Given the description of an element on the screen output the (x, y) to click on. 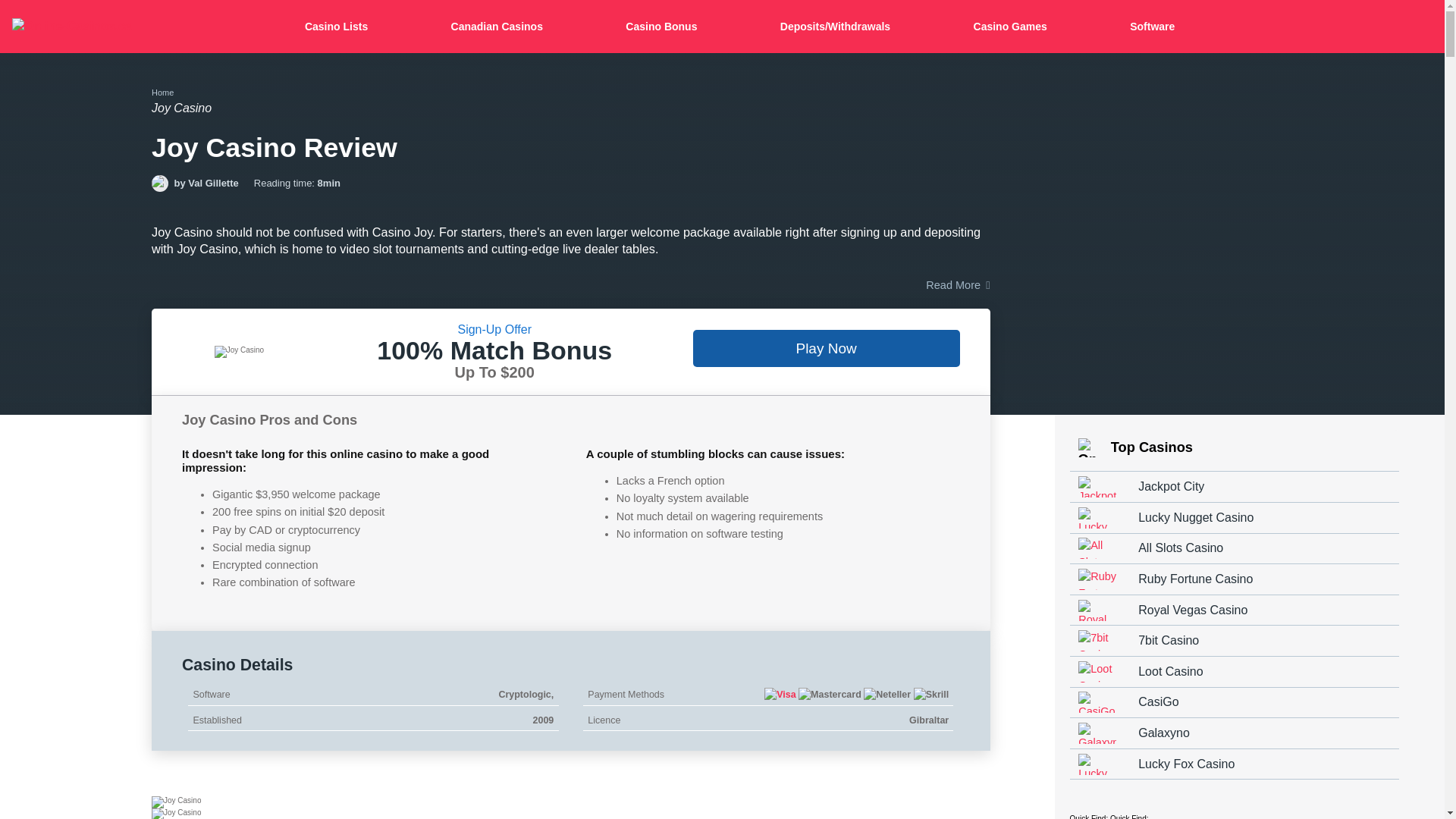
Neteller (887, 694)
Skrill (931, 694)
Casino Bonus (663, 26)
Mastercard (829, 694)
Visa (780, 694)
Casino Lists (339, 26)
Canadian Casinos (499, 26)
